Given the description of an element on the screen output the (x, y) to click on. 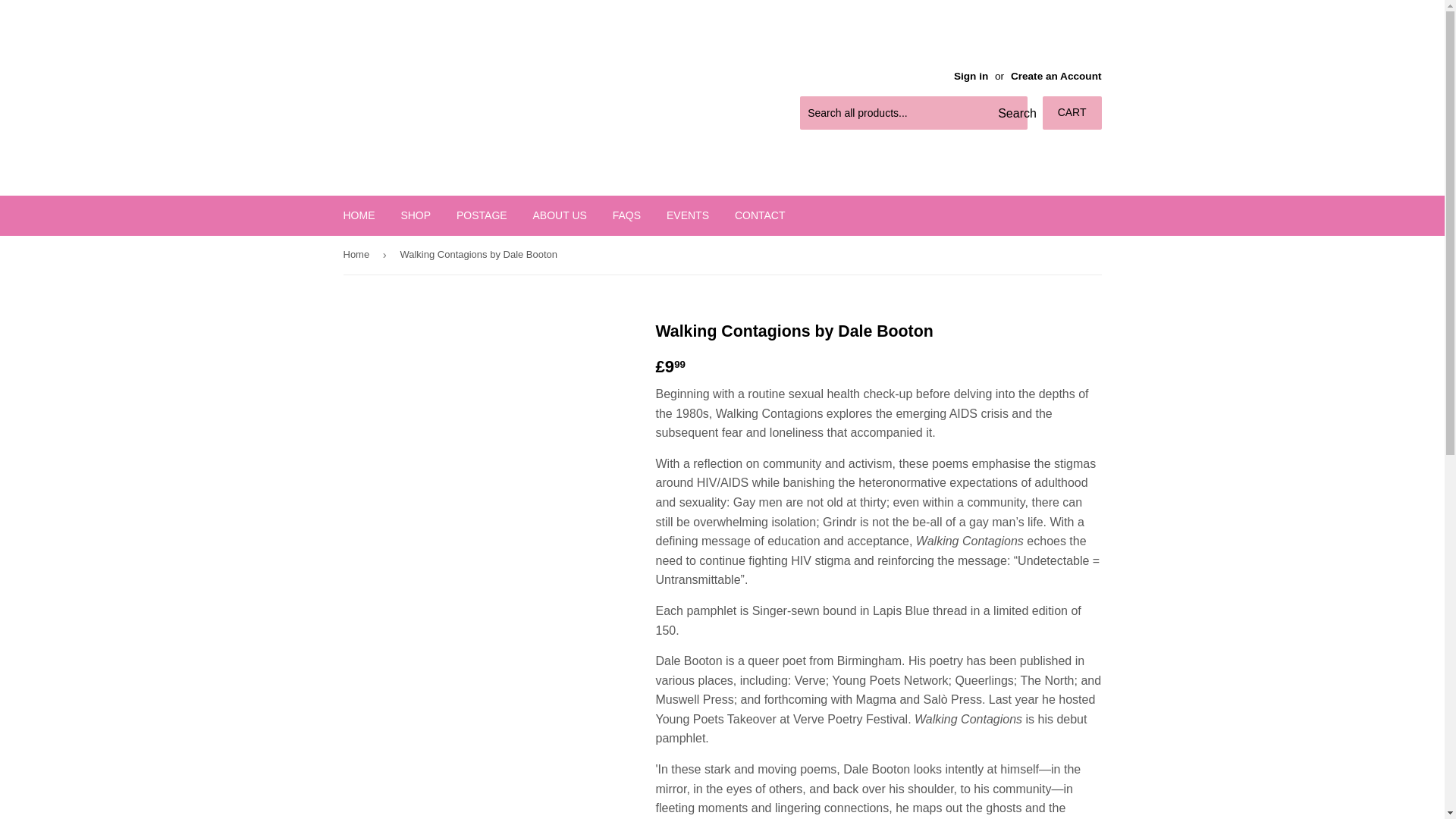
SHOP (415, 215)
Sign in (970, 75)
Search (1009, 113)
HOME (359, 215)
CONTACT (759, 215)
FAQS (626, 215)
POSTAGE (481, 215)
CART (1072, 112)
ABOUT US (559, 215)
EVENTS (687, 215)
